Given the description of an element on the screen output the (x, y) to click on. 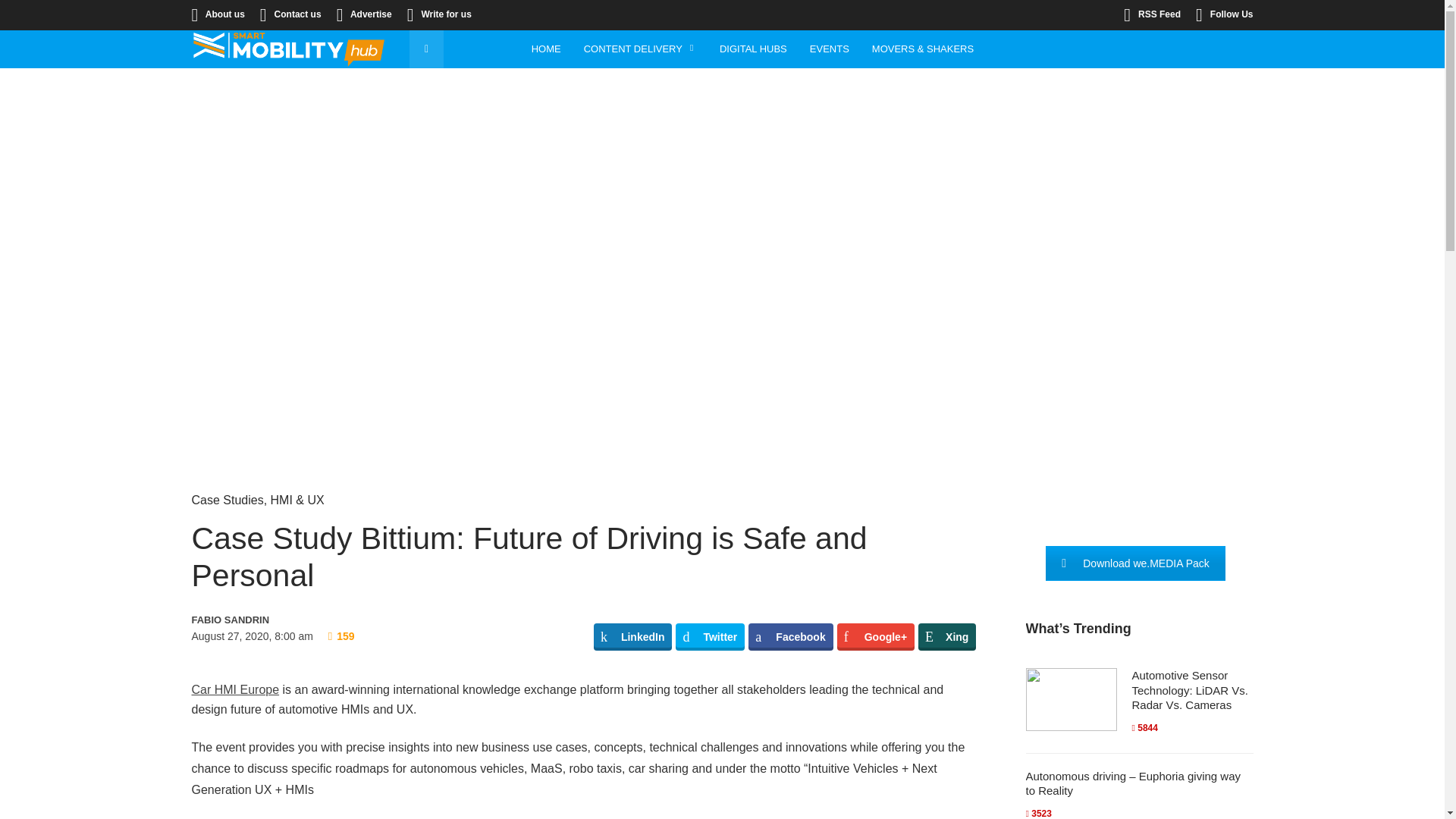
Views (342, 635)
   About us (217, 14)
   Contact us (290, 14)
   RSS Feed (1152, 14)
DIGITAL HUBS (752, 48)
Views (1144, 727)
   Follow Us (1223, 14)
   Write for us (439, 14)
EVENTS (828, 48)
   Advertise (363, 14)
